Given the description of an element on the screen output the (x, y) to click on. 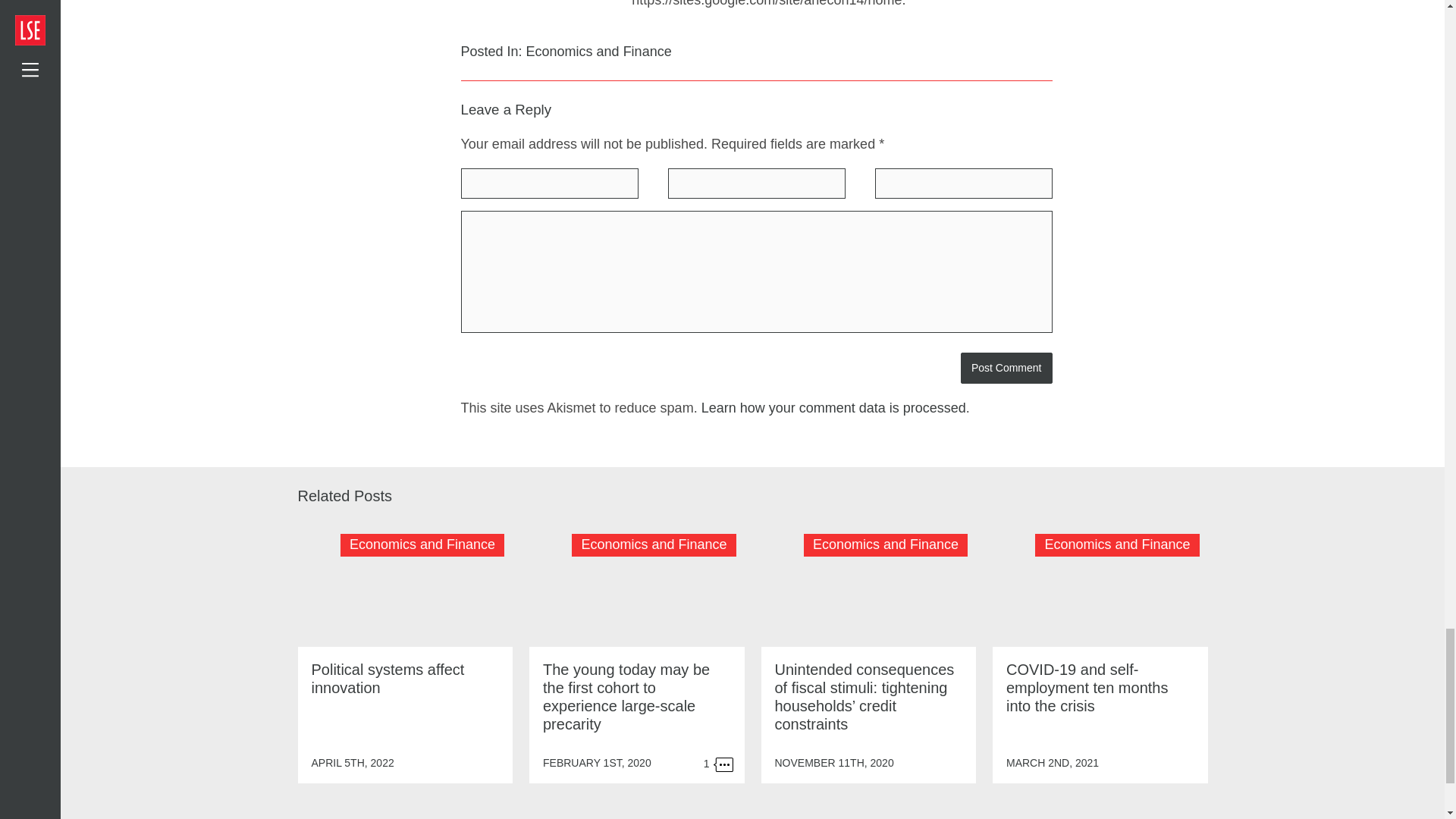
Post Comment (1006, 367)
Post Comment (1006, 367)
Learn how your comment data is processed (833, 407)
